Given the description of an element on the screen output the (x, y) to click on. 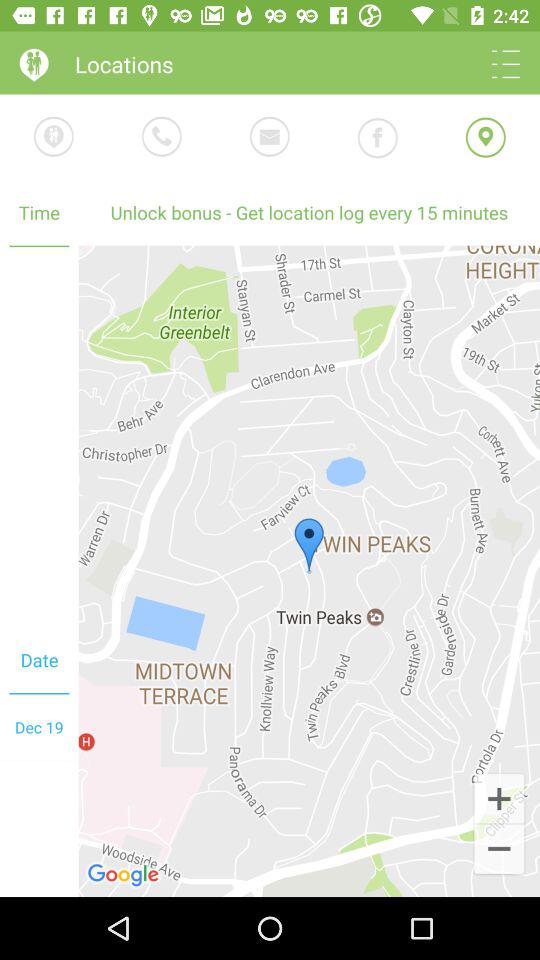
choose the icon above the date app (39, 437)
